Given the description of an element on the screen output the (x, y) to click on. 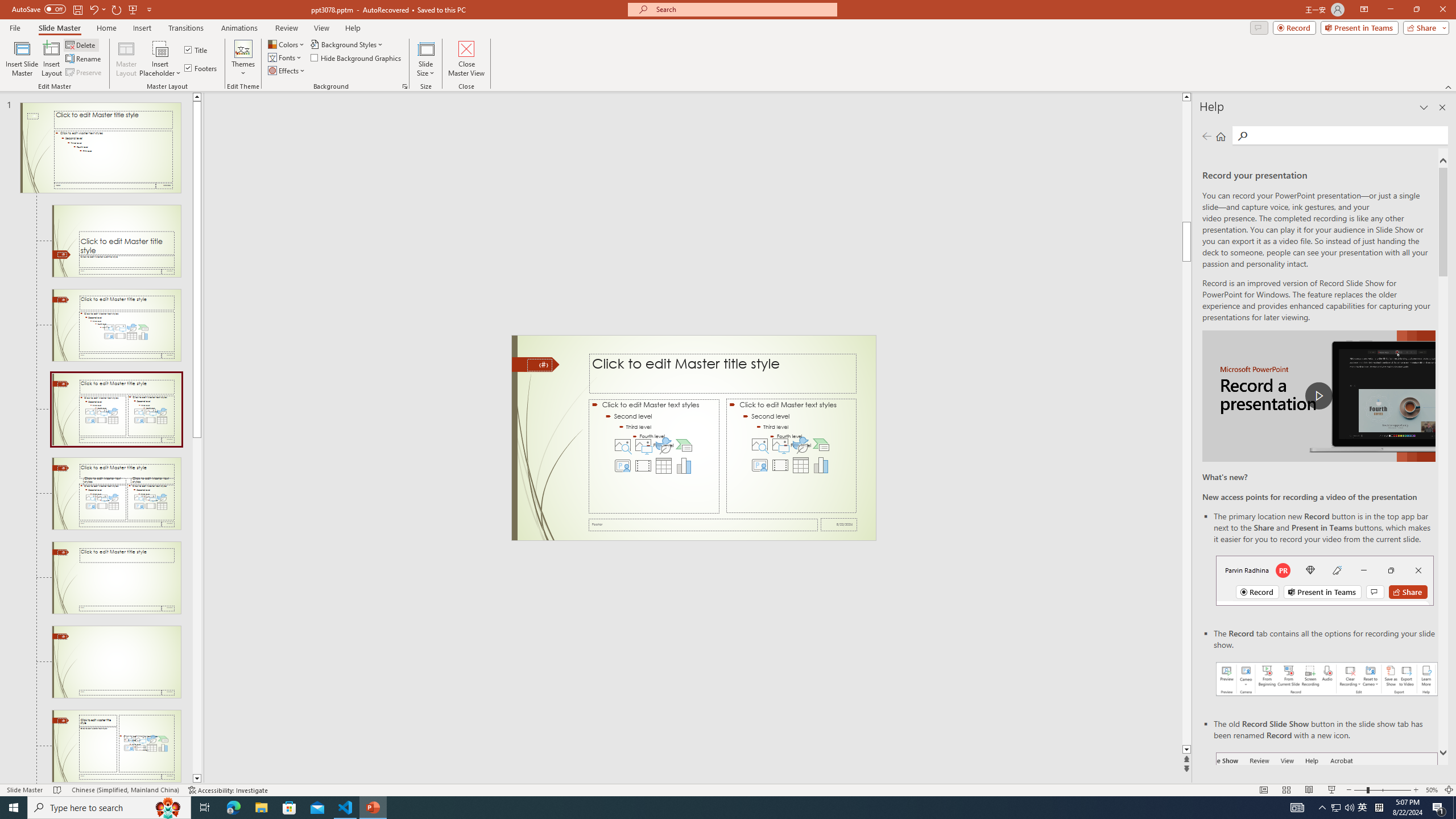
Slide Comparison Layout: used by no slides (116, 577)
Page down (197, 605)
Insert Video (780, 465)
Record your presentations screenshot one (1326, 678)
play Record a Presentation (1318, 395)
